Given the description of an element on the screen output the (x, y) to click on. 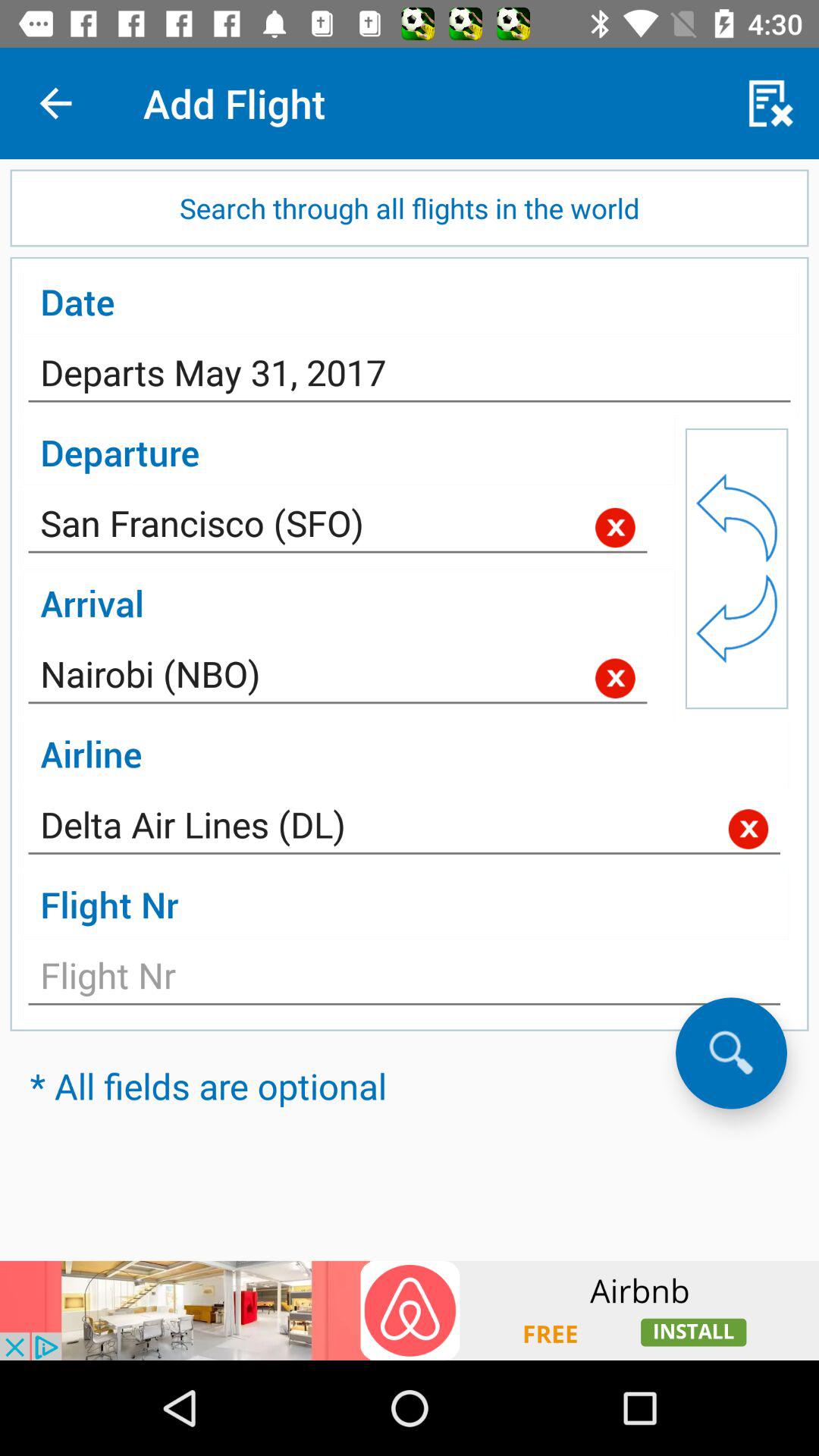
search input field (731, 1053)
